Given the description of an element on the screen output the (x, y) to click on. 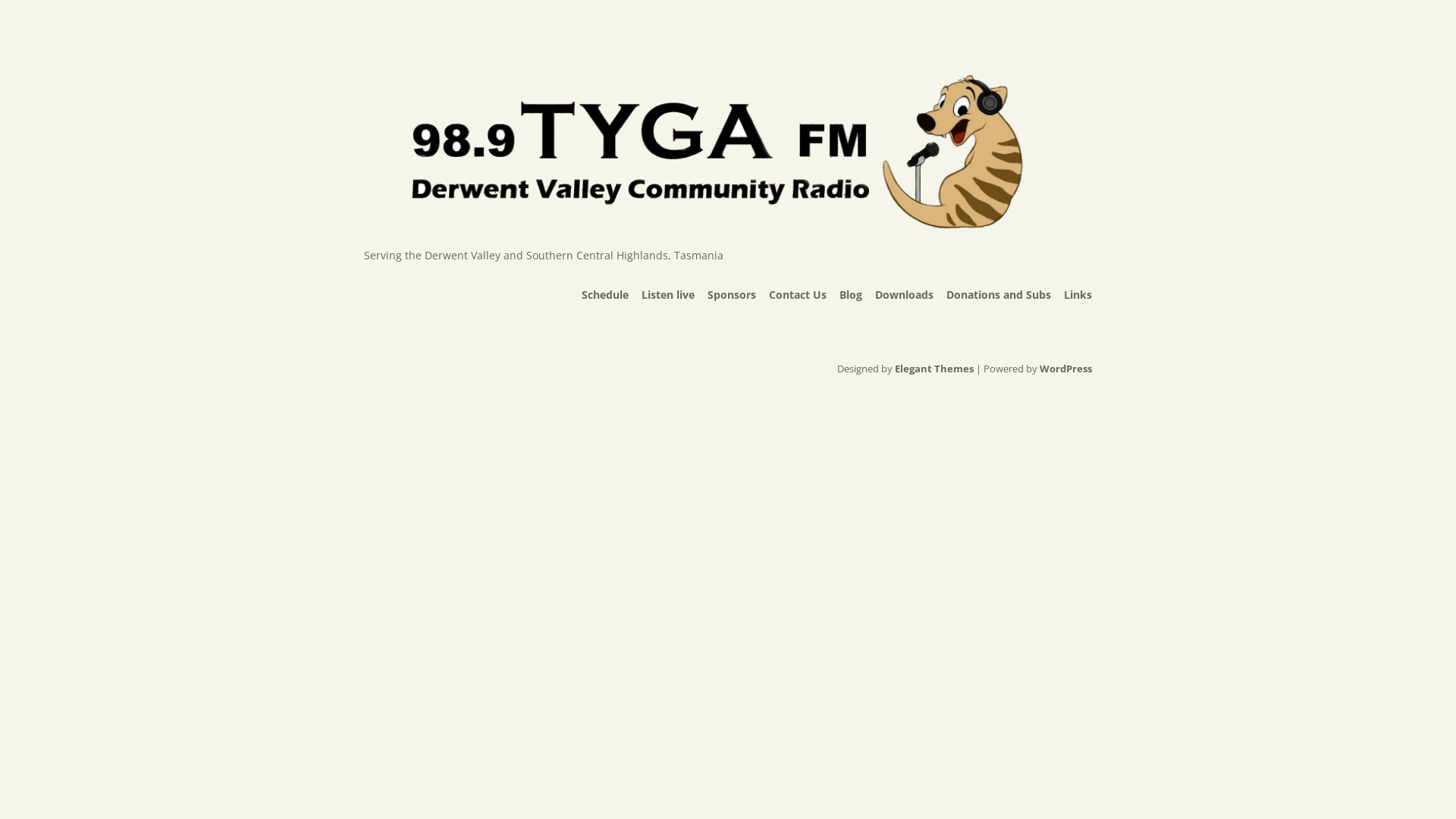
Contact Us Element type: text (797, 294)
Listen live Element type: text (667, 294)
WordPress Element type: text (1065, 368)
Donations and Subs Element type: text (998, 294)
Downloads Element type: text (904, 294)
Links Element type: text (1077, 294)
98.9 TYGA-FM Element type: hover (721, 220)
Schedule Element type: text (604, 294)
Blog Element type: text (850, 294)
Sponsors Element type: text (731, 294)
Elegant Themes Element type: text (933, 368)
